Given the description of an element on the screen output the (x, y) to click on. 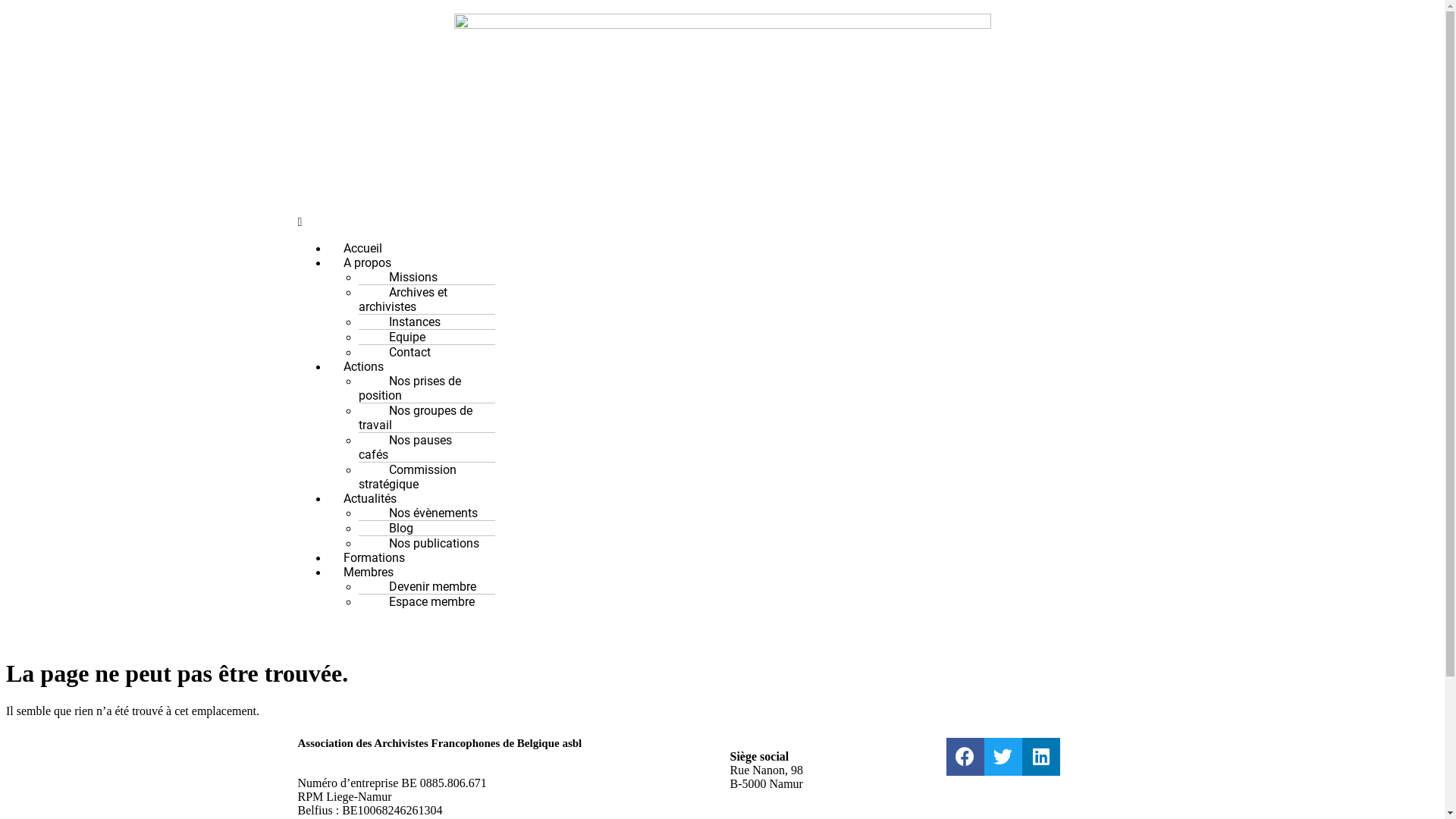
Equipe Element type: text (398, 336)
Blog Element type: text (392, 527)
Contact Element type: text (401, 351)
Accueil Element type: text (361, 247)
Instances Element type: text (406, 321)
Nos publications Element type: text (425, 542)
Actions Element type: text (362, 366)
Archives et archivistes Element type: text (401, 299)
A propos Element type: text (366, 262)
Nos prises de position Element type: text (408, 388)
Devenir membre Element type: text (423, 586)
Formations Element type: text (373, 557)
Espace membre Element type: text (423, 601)
Membres Element type: text (367, 571)
Missions Element type: text (404, 276)
Nos groupes de travail Element type: text (414, 417)
